Given the description of an element on the screen output the (x, y) to click on. 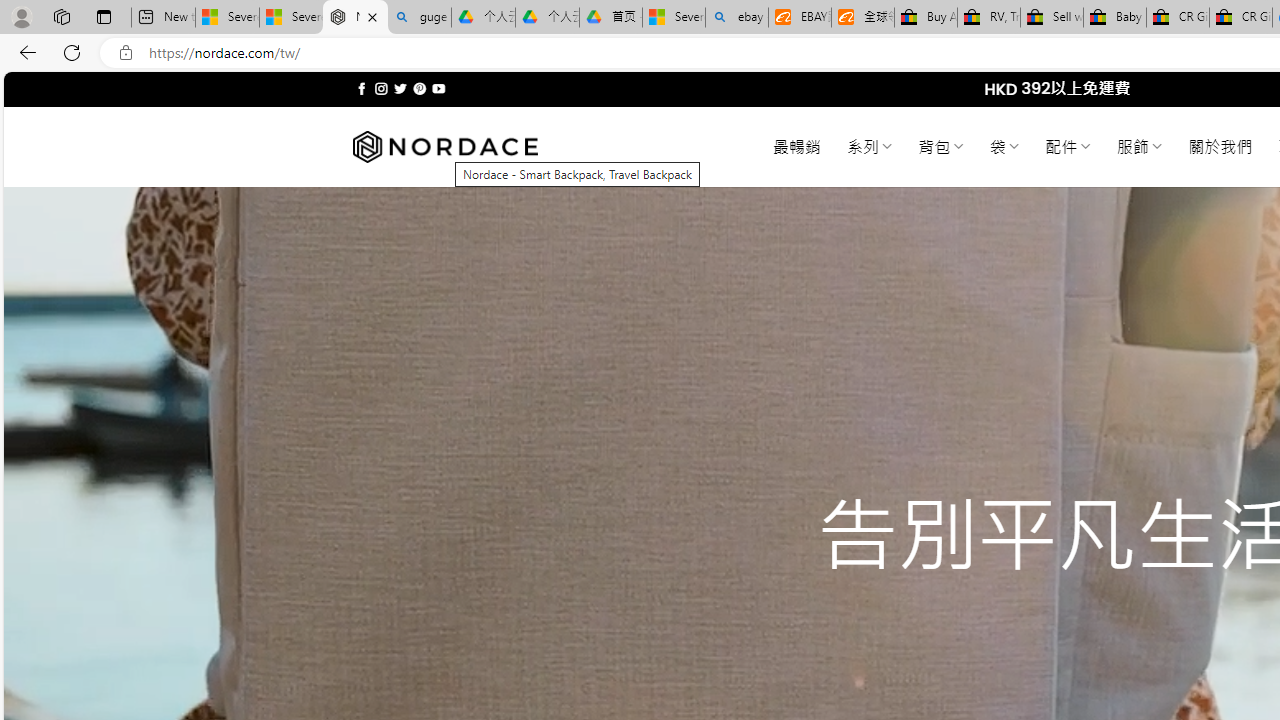
Follow on Twitter (400, 88)
Follow on Facebook (361, 88)
